Given the description of an element on the screen output the (x, y) to click on. 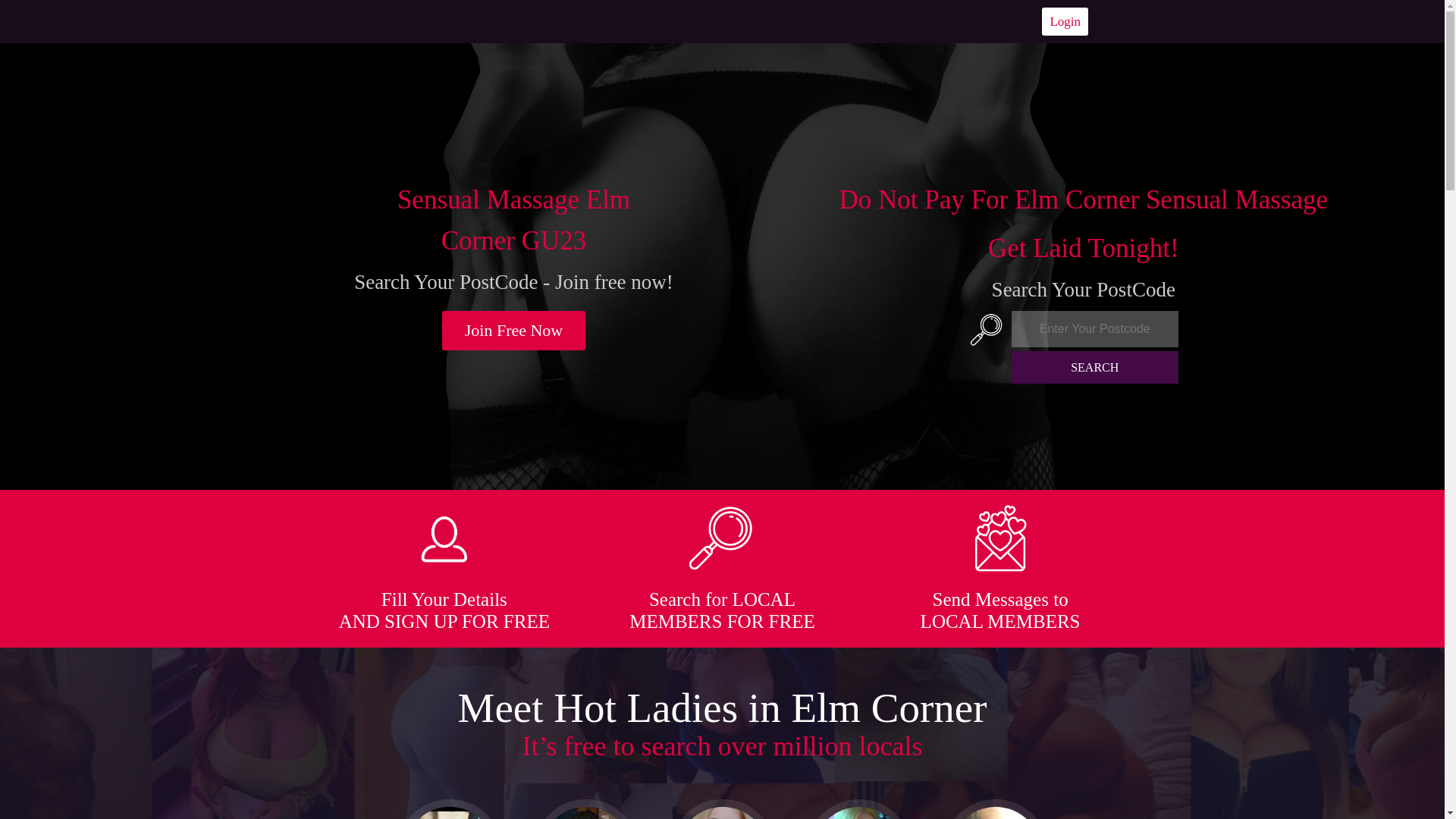
Login (1064, 21)
Login (1064, 21)
SEARCH (1094, 367)
Join (514, 330)
Join Free Now (514, 330)
